Given the description of an element on the screen output the (x, y) to click on. 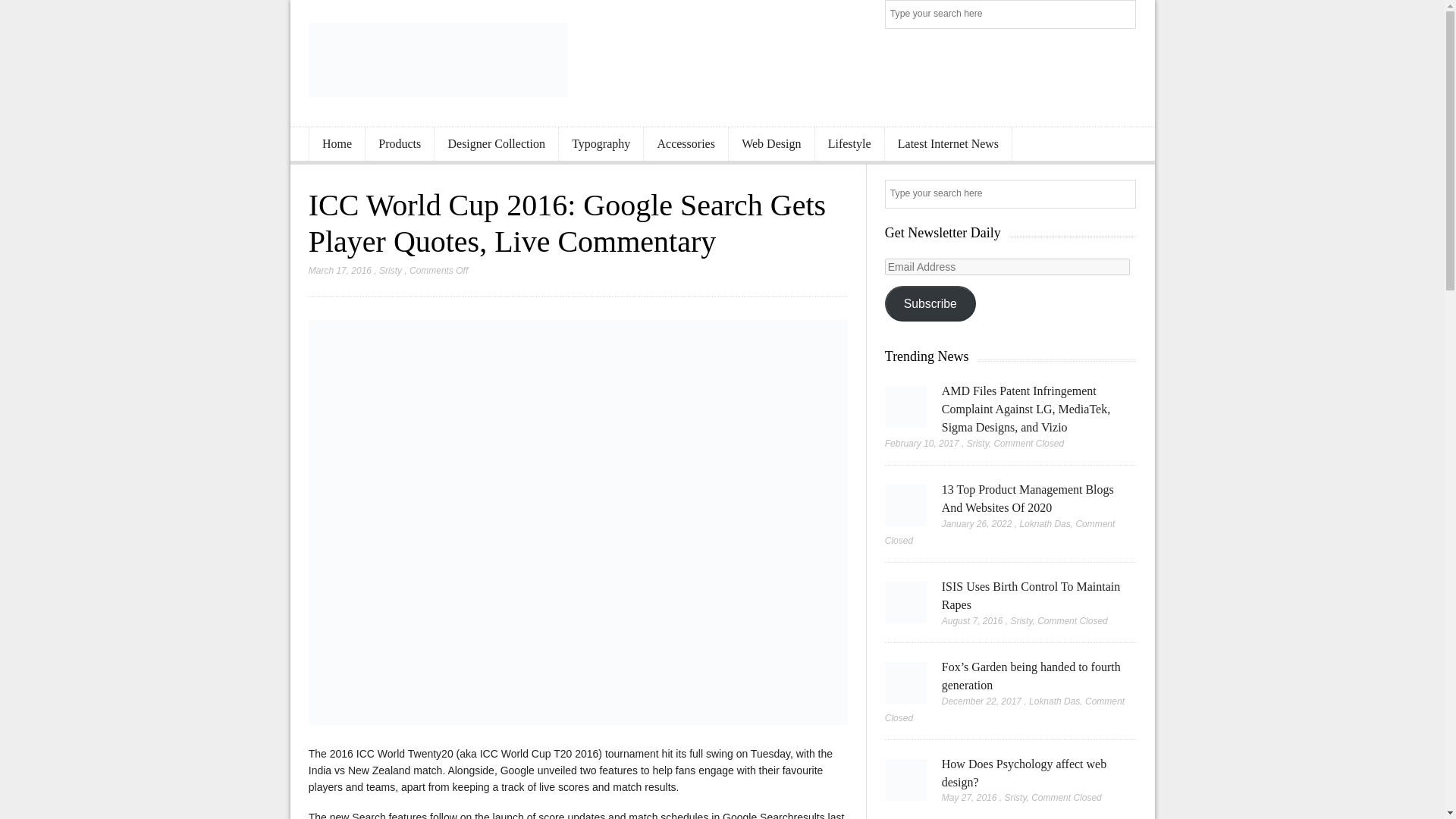
Typography (601, 144)
Search (1123, 15)
Designer Collection (495, 144)
Sristy (389, 270)
Latest Internet News (948, 144)
Accessories (685, 144)
Web Design (771, 144)
Products (399, 144)
Home (336, 144)
Lifestyle (849, 144)
